Given the description of an element on the screen output the (x, y) to click on. 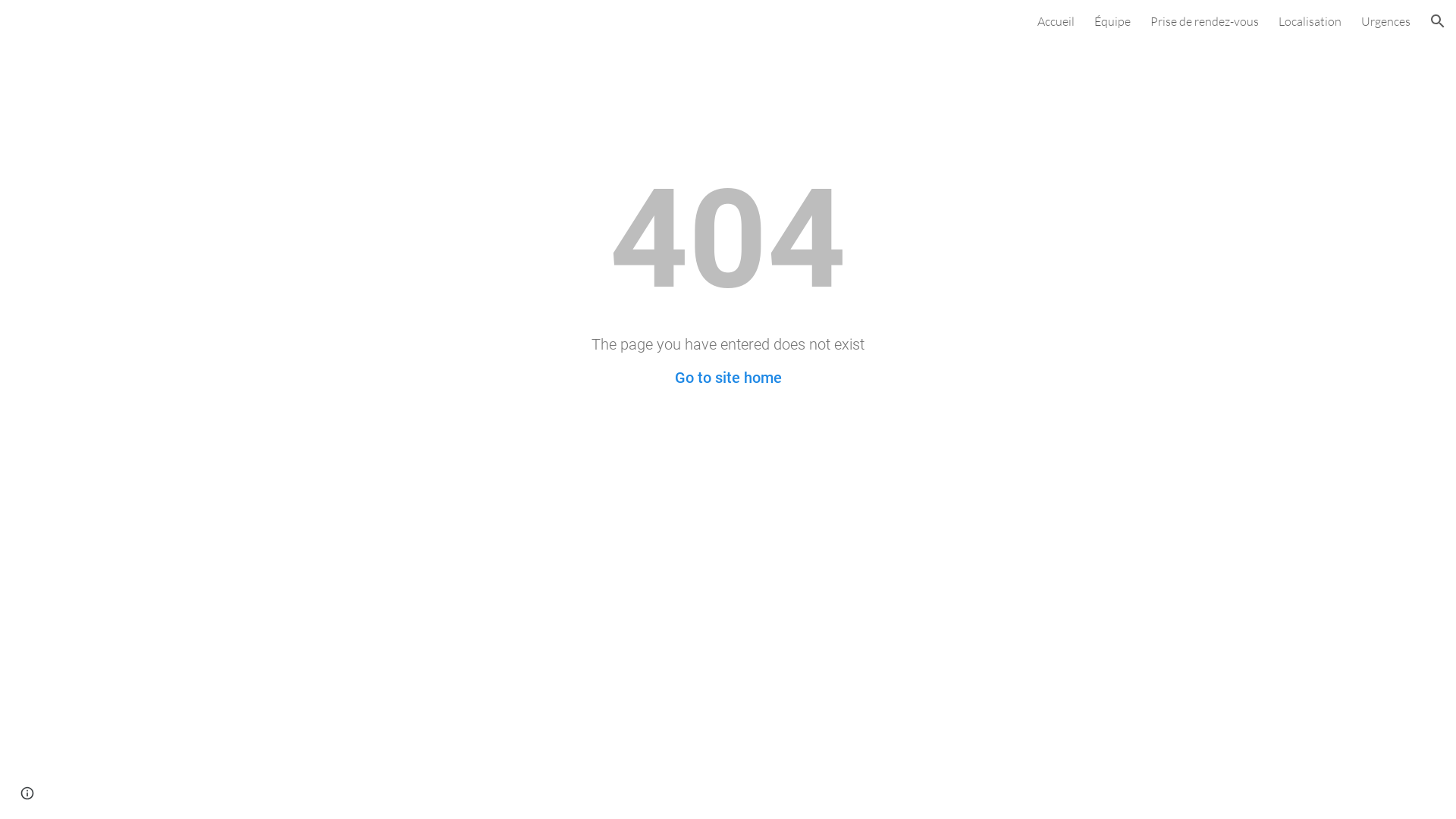
Prise de rendez-vous Element type: text (1204, 20)
Go to site home Element type: text (727, 377)
Accueil Element type: text (1055, 20)
Localisation Element type: text (1309, 20)
Urgences Element type: text (1385, 20)
